Given the description of an element on the screen output the (x, y) to click on. 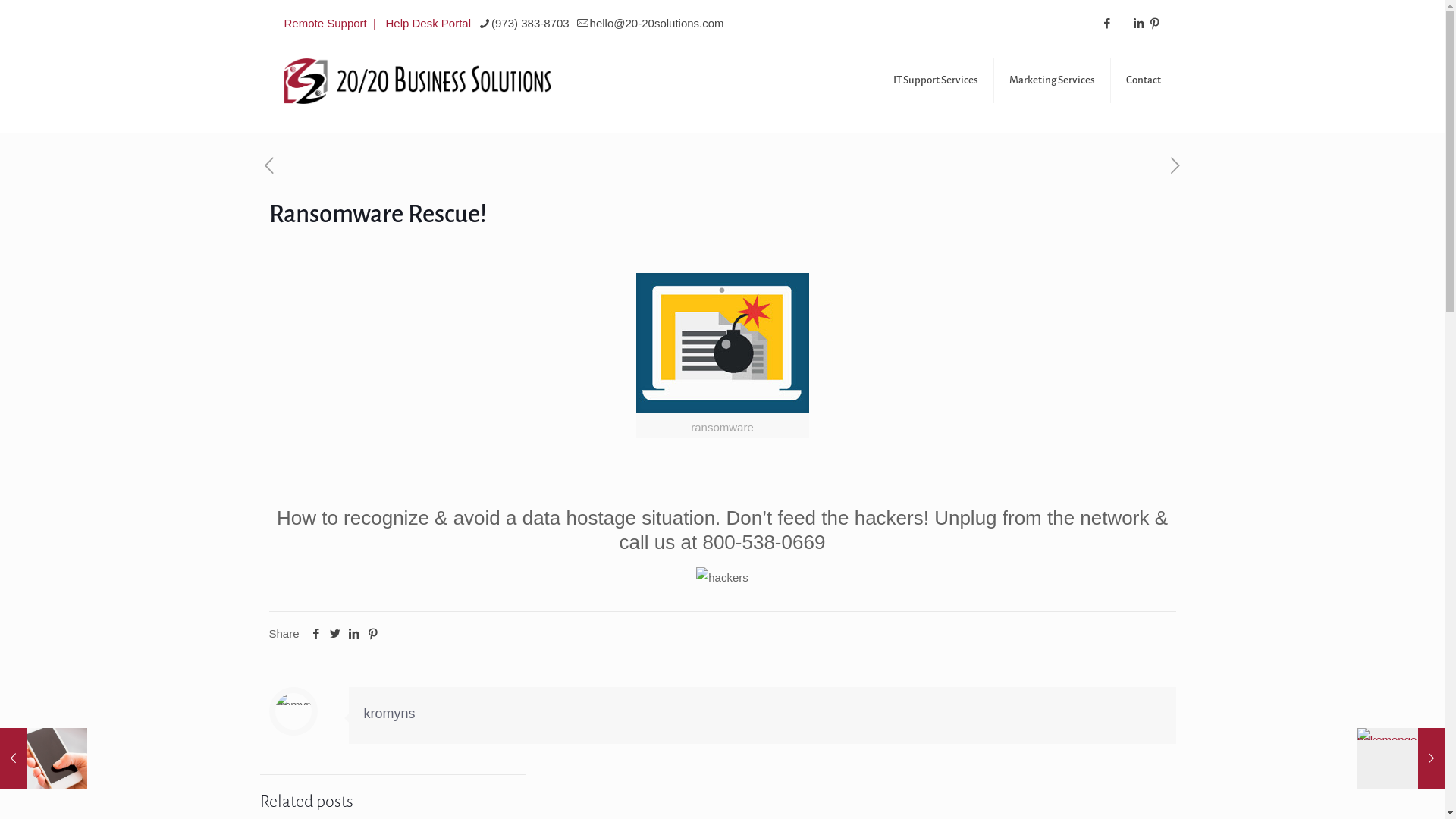
Remote Support  |   Element type: text (332, 22)
X (Twitter) Element type: hover (1123, 23)
IT Support Services Element type: text (936, 80)
Contact Element type: text (1142, 80)
Pinterest Element type: hover (1155, 23)
LinkedIn Element type: hover (1138, 23)
Help Desk Portal Element type: text (427, 22)
Facebook Element type: hover (1106, 23)
20/20 Solutions, Inc. Element type: hover (416, 80)
(973) 383-8703 Element type: text (530, 22)
kromyns Element type: text (389, 713)
Marketing Services Element type: text (1051, 80)
hello@20-20solutions.com Element type: text (656, 22)
